Given the description of an element on the screen output the (x, y) to click on. 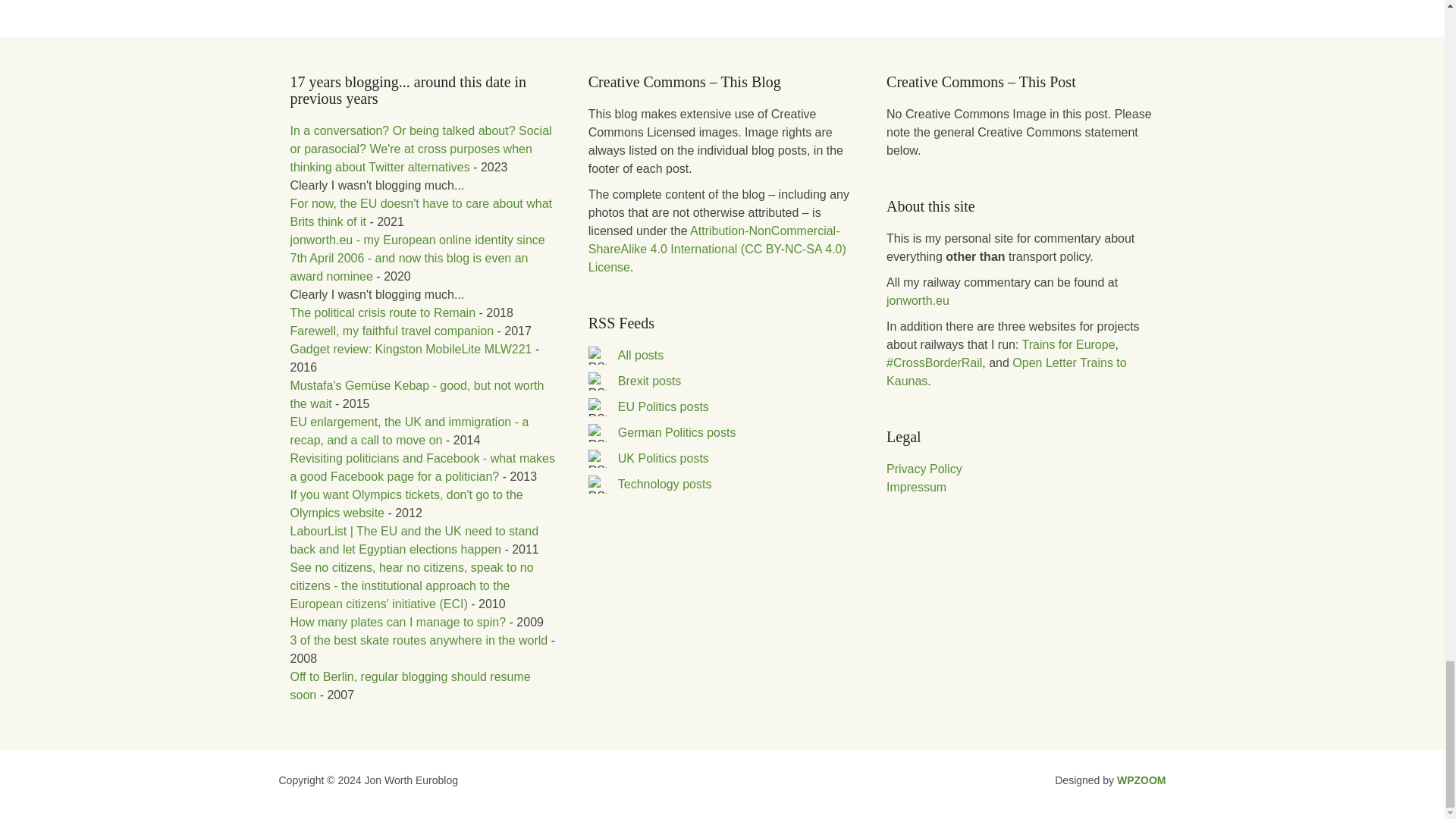
Permanent link to The political crisis route to Remain (382, 312)
Permanent link to Farewell, my faithful travel companion (391, 330)
Permanent link to Gadget review: Kingston MobileLite MLW22 (410, 349)
